Given the description of an element on the screen output the (x, y) to click on. 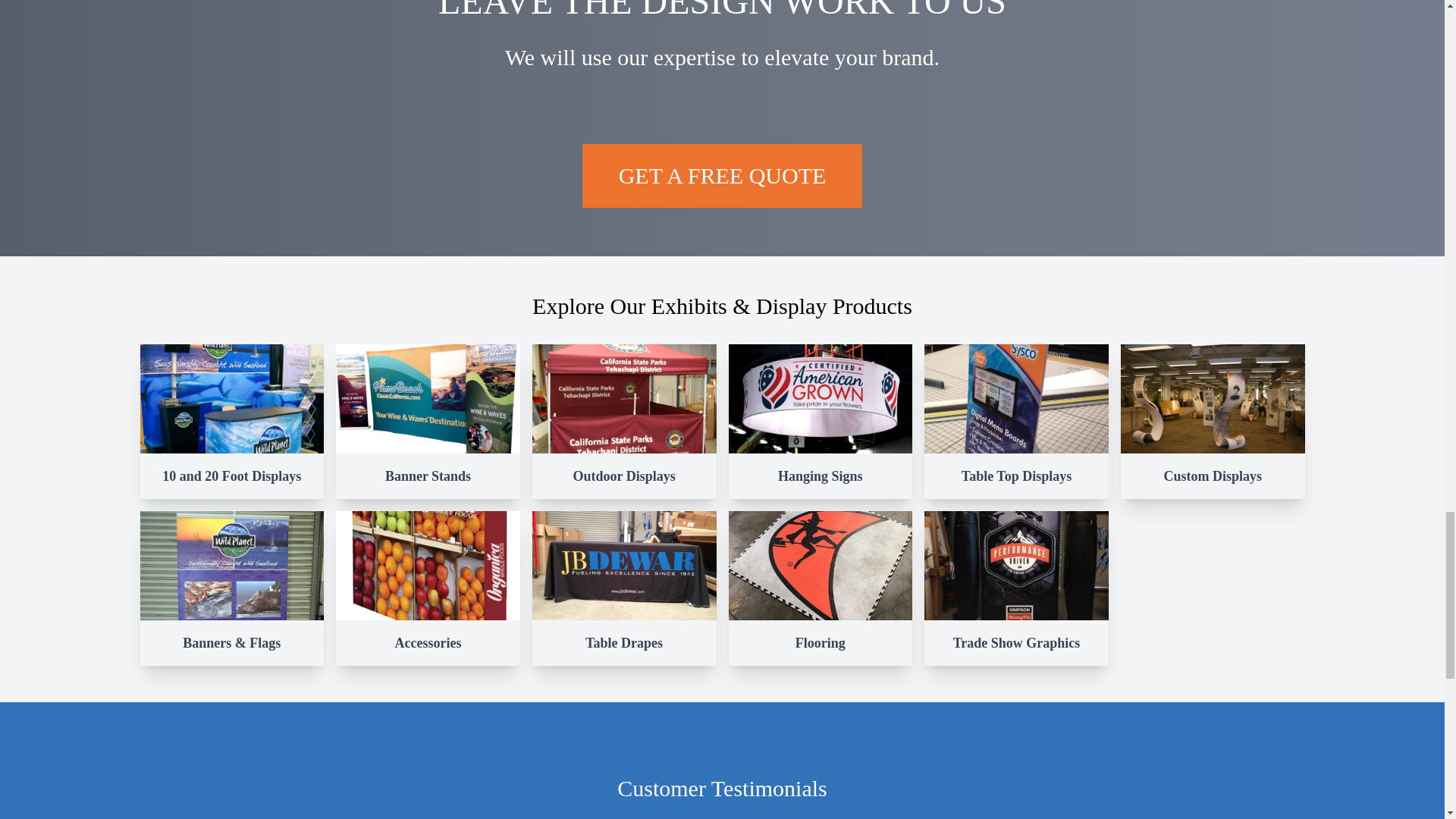
Table Drapes (624, 588)
Outdoor Displays (624, 420)
Banner Stands (427, 420)
10 and 20 Foot Displays (231, 420)
Custom Displays (1212, 420)
Hanging Signs (820, 420)
Trade Show Graphics (1016, 588)
Flooring (820, 588)
Accessories (427, 588)
Table Top Displays (1016, 420)
GET A FREE QUOTE (722, 176)
